Given the description of an element on the screen output the (x, y) to click on. 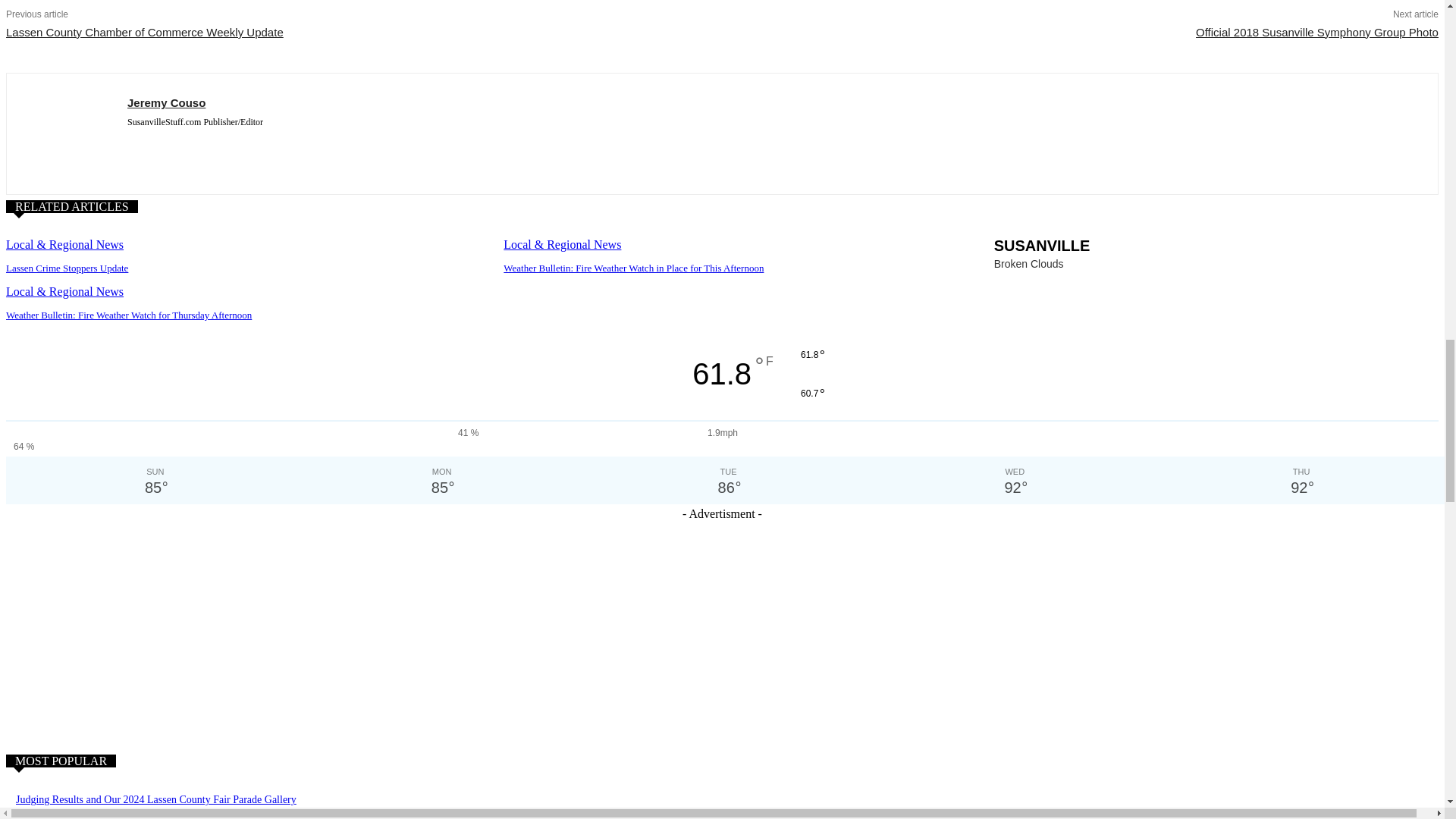
Lassen County Chamber of Commerce Weekly Update (144, 31)
Lassen Crime Stoppers Update (66, 267)
Instagram (159, 143)
Official 2018 Susanville Symphony Group Photo (1316, 31)
Twitter (186, 143)
Weather Bulletin: Fire Weather Watch for Thursday Afternoon (128, 315)
Jeremy Couso (195, 102)
Lassen Crime Stoppers Update (66, 267)
Jeremy Couso (67, 133)
Weather Bulletin: Fire Weather Watch for Thursday Afternoon (128, 315)
Facebook (133, 143)
